Given the description of an element on the screen output the (x, y) to click on. 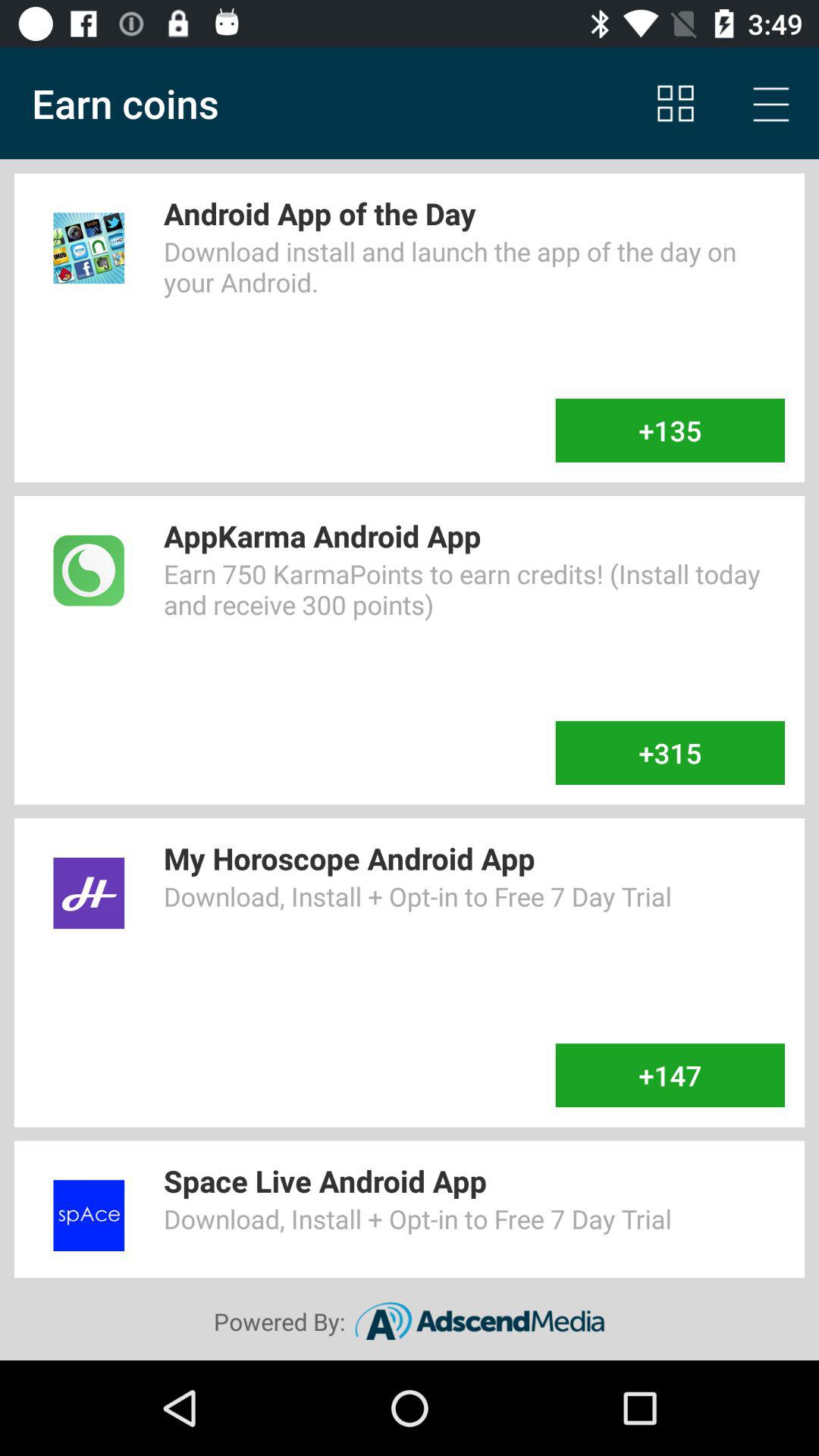
launch the item above appkarma android app item (669, 430)
